Given the description of an element on the screen output the (x, y) to click on. 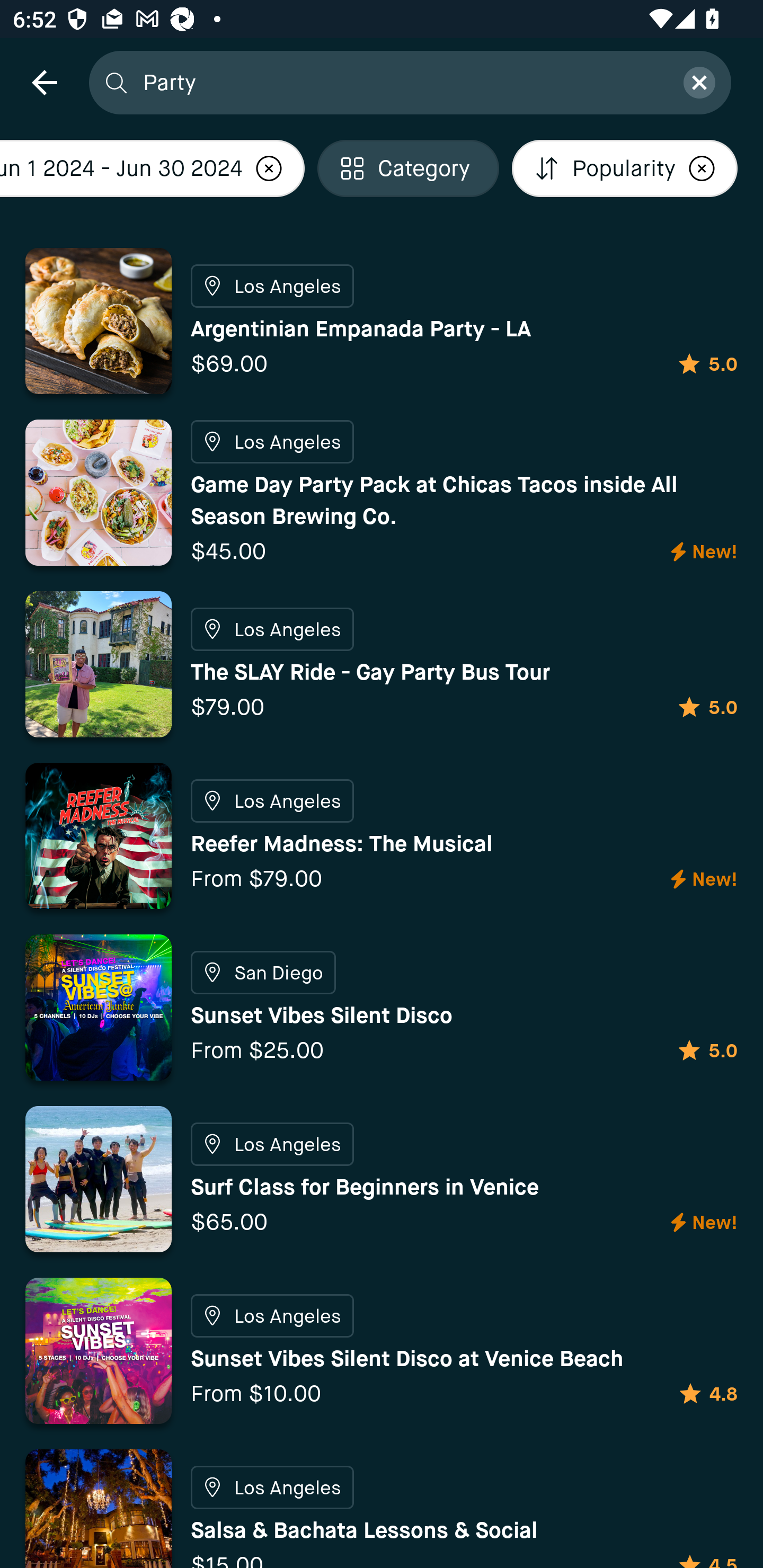
navigation icon (44, 81)
Party (402, 81)
Jun 1 2024 - Jun 30 2024 Localized description (152, 168)
Localized description (269, 168)
Localized description Category (408, 168)
Localized description (701, 168)
